Given the description of an element on the screen output the (x, y) to click on. 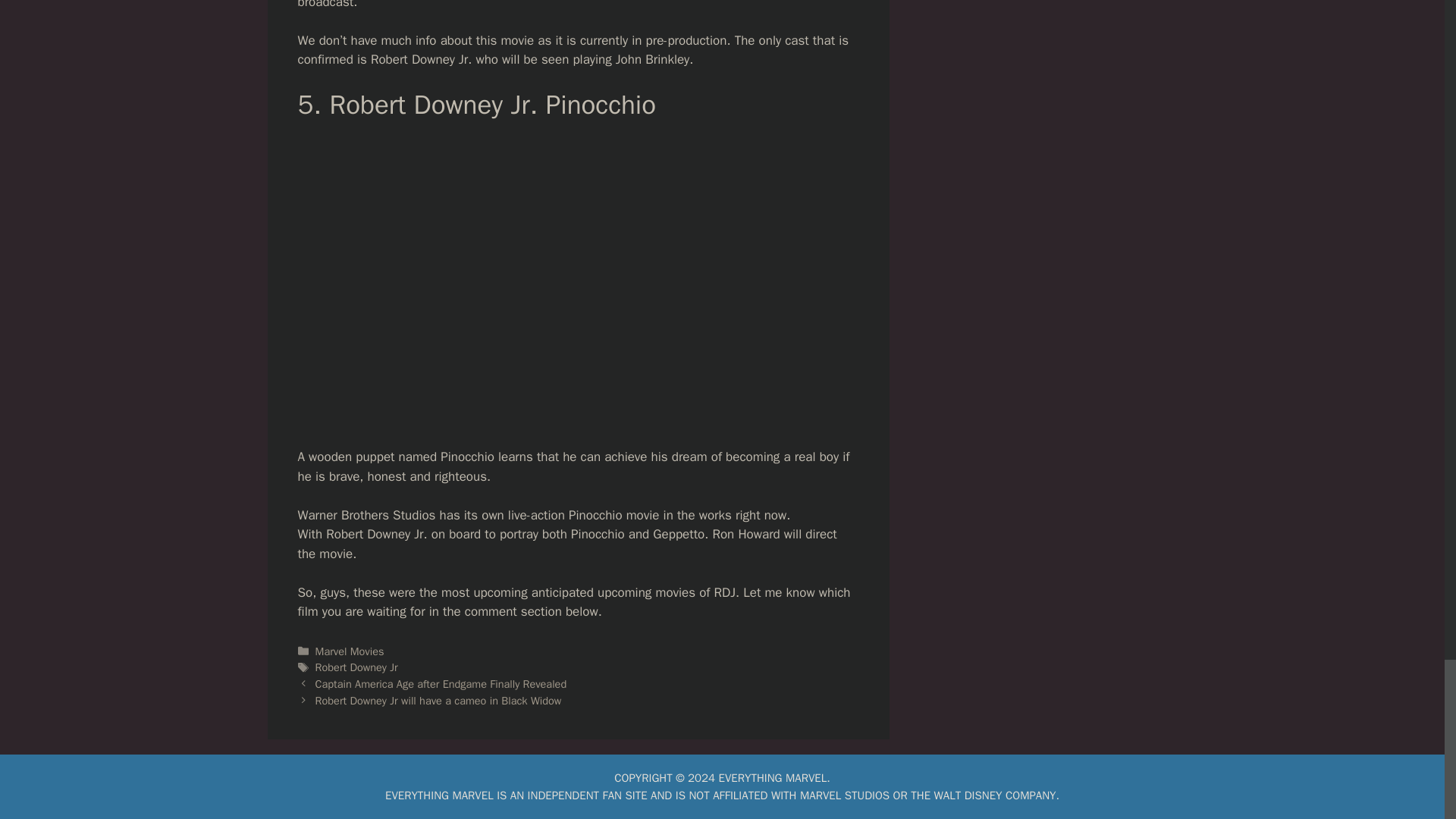
Captain America Age after Endgame Finally Revealed (441, 684)
Marvel Movies (349, 651)
Next (438, 700)
Robert Downey Jr (356, 667)
Previous (441, 684)
Robert Downey Jr will have a cameo in Black Widow (438, 700)
